Given the description of an element on the screen output the (x, y) to click on. 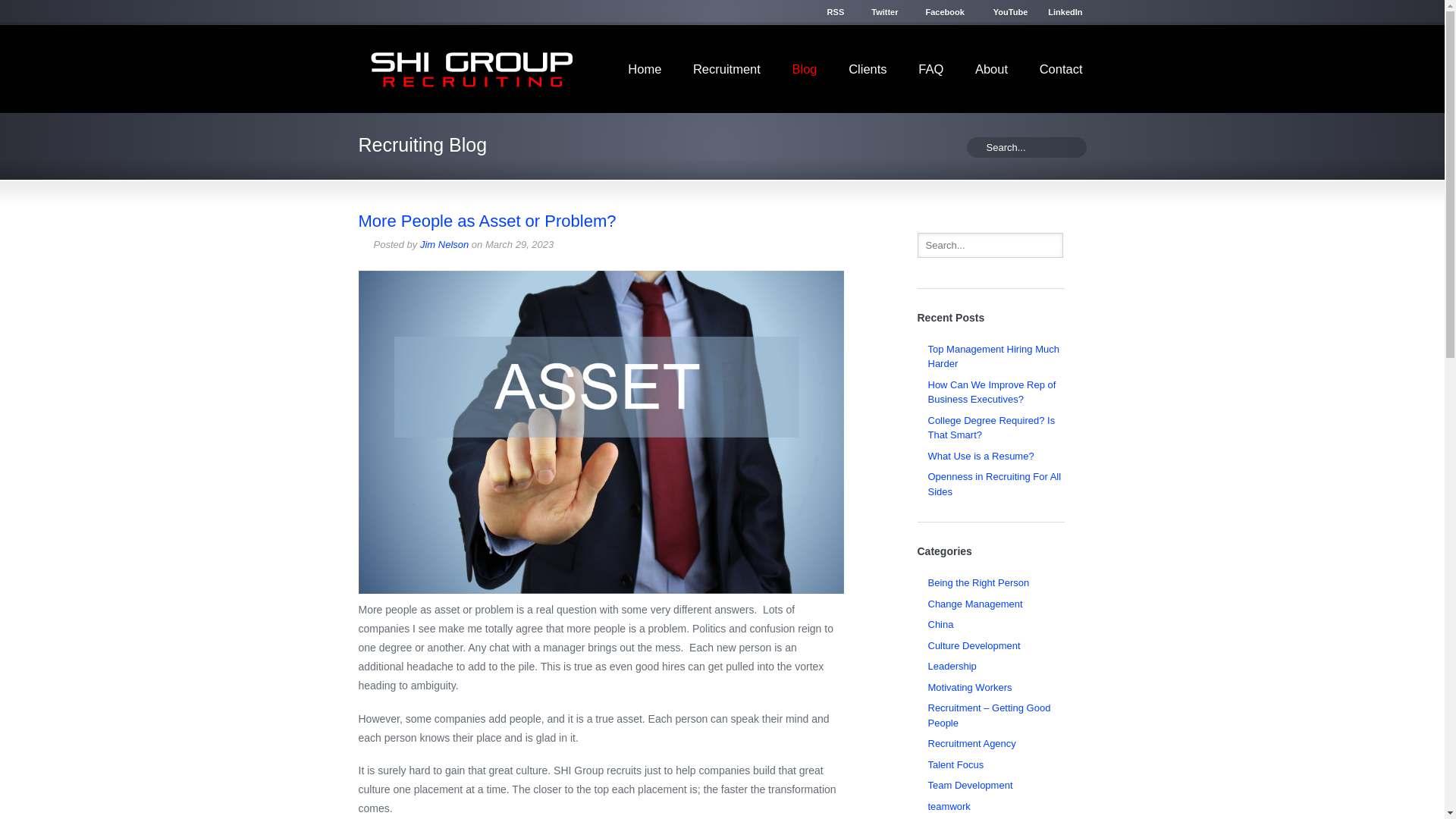
Clients (866, 67)
LinkedIn (1055, 10)
What Use is a Resume? (980, 455)
FAQ (930, 67)
Being the Right Person (978, 582)
Facebook (939, 10)
College Degree Required? Is That Smart? (991, 427)
YouTube (1001, 11)
Search... (989, 244)
More People as Asset or Problem? (486, 220)
